Given the description of an element on the screen output the (x, y) to click on. 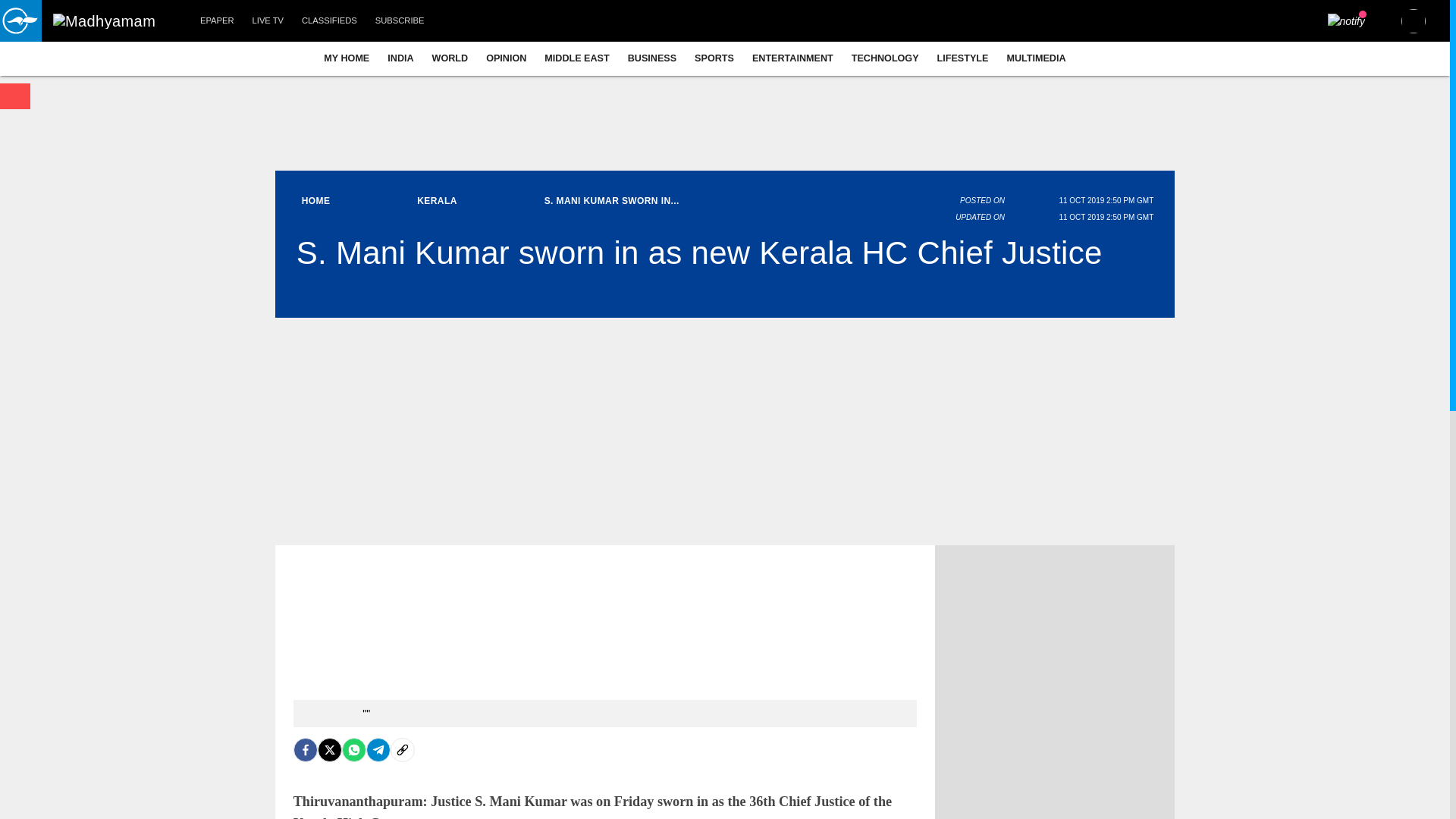
OPINION (506, 58)
MIDDLE EAST (576, 58)
CLASSIFIEDS (329, 20)
LIFESTYLE (962, 58)
INDIA (400, 58)
notify (1346, 20)
BUSINESS (651, 58)
SPORTS (713, 58)
TECHNOLOGY (885, 58)
MY HOME (346, 58)
